Given the description of an element on the screen output the (x, y) to click on. 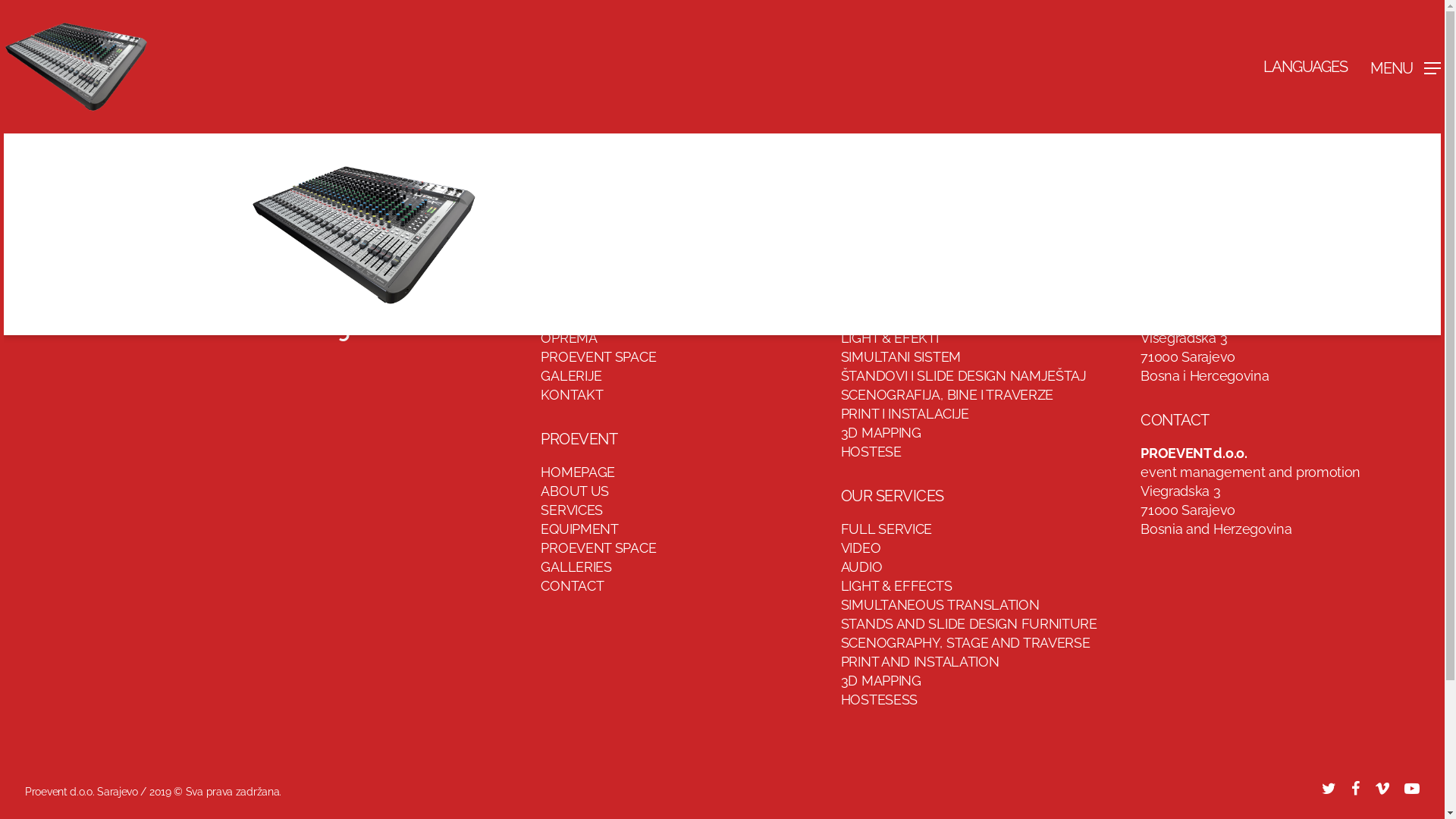
EQUIPMENT Element type: text (579, 528)
OPREMA Element type: text (568, 337)
SCENOGRAFIJA, BINE I TRAVERZE Element type: text (946, 394)
CONTACT Element type: text (571, 585)
USLUGE Element type: text (567, 318)
AUDIO Element type: text (861, 318)
GALERIJE Element type: text (571, 375)
FULL SERVICE Element type: text (885, 528)
LANGUAGES Element type: text (1305, 66)
LIGHT & EFFECTS Element type: text (896, 585)
STANDS AND SLIDE DESIGN FURNITURE Element type: text (968, 623)
HOSTESESS Element type: text (878, 699)
ProEvent Sarajevo Element type: text (255, 256)
VIDEO Element type: text (860, 547)
SERVICES Element type: text (571, 509)
3D MAPPING Element type: text (880, 432)
O NAMA Element type: text (567, 299)
PRINT I INSTALACIJE Element type: text (904, 413)
HOSTESE Element type: text (870, 451)
3D MAPPING Element type: text (880, 680)
LIGHT & EFEKTI Element type: text (889, 337)
HOMEPAGE Element type: text (577, 472)
SIMULTANEOUS TRANSLATION Element type: text (939, 604)
FULL SERVICE Element type: text (885, 280)
PROEVENT SPACE Element type: text (597, 356)
KONTAKT Element type: text (571, 394)
MENU Element type: text (1405, 66)
SCENOGRAPHY, STAGE AND TRAVERSE Element type: text (965, 642)
VIDEO Element type: text (860, 299)
ABOUT US Element type: text (574, 490)
AUDIO Element type: text (861, 566)
GALLERIES Element type: text (575, 566)
SIMULTANI SISTEM Element type: text (900, 356)
PROEVENT SPACE Element type: text (597, 547)
ProEvent Sarajevo Element type: text (255, 320)
PRINT AND INSTALATION Element type: text (919, 661)
